Given the description of an element on the screen output the (x, y) to click on. 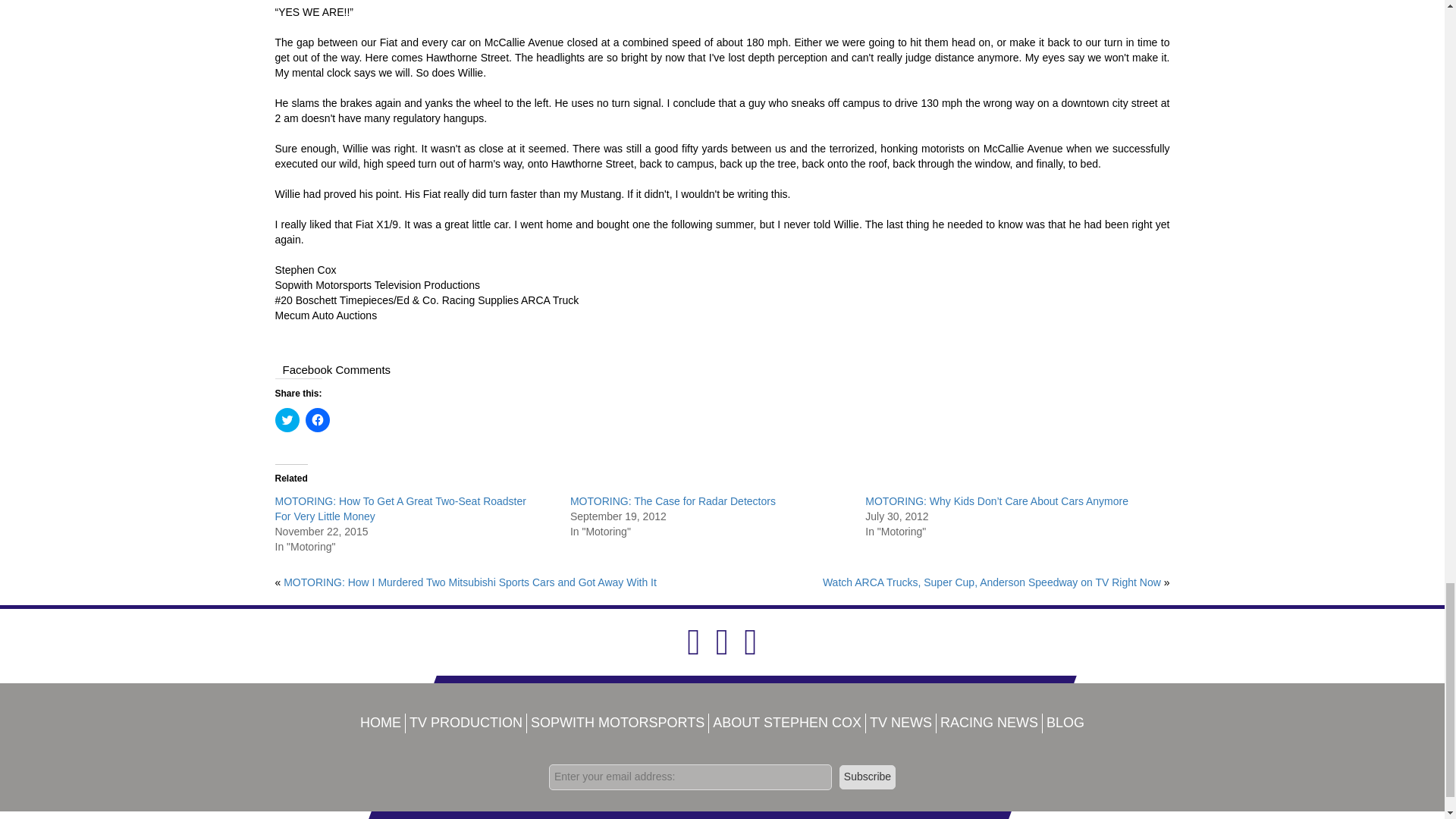
Click to share on Twitter (286, 419)
ABOUT STEPHEN COX (787, 722)
MOTORING: The Case for Radar Detectors (673, 500)
MOTORING: The Case for Radar Detectors (673, 500)
TV PRODUCTION (465, 722)
SOPWITH MOTORSPORTS (617, 722)
TV NEWS (900, 722)
Click to share on Facebook (316, 419)
HOME (380, 722)
RACING NEWS (989, 722)
Subscribe (867, 776)
